Given the description of an element on the screen output the (x, y) to click on. 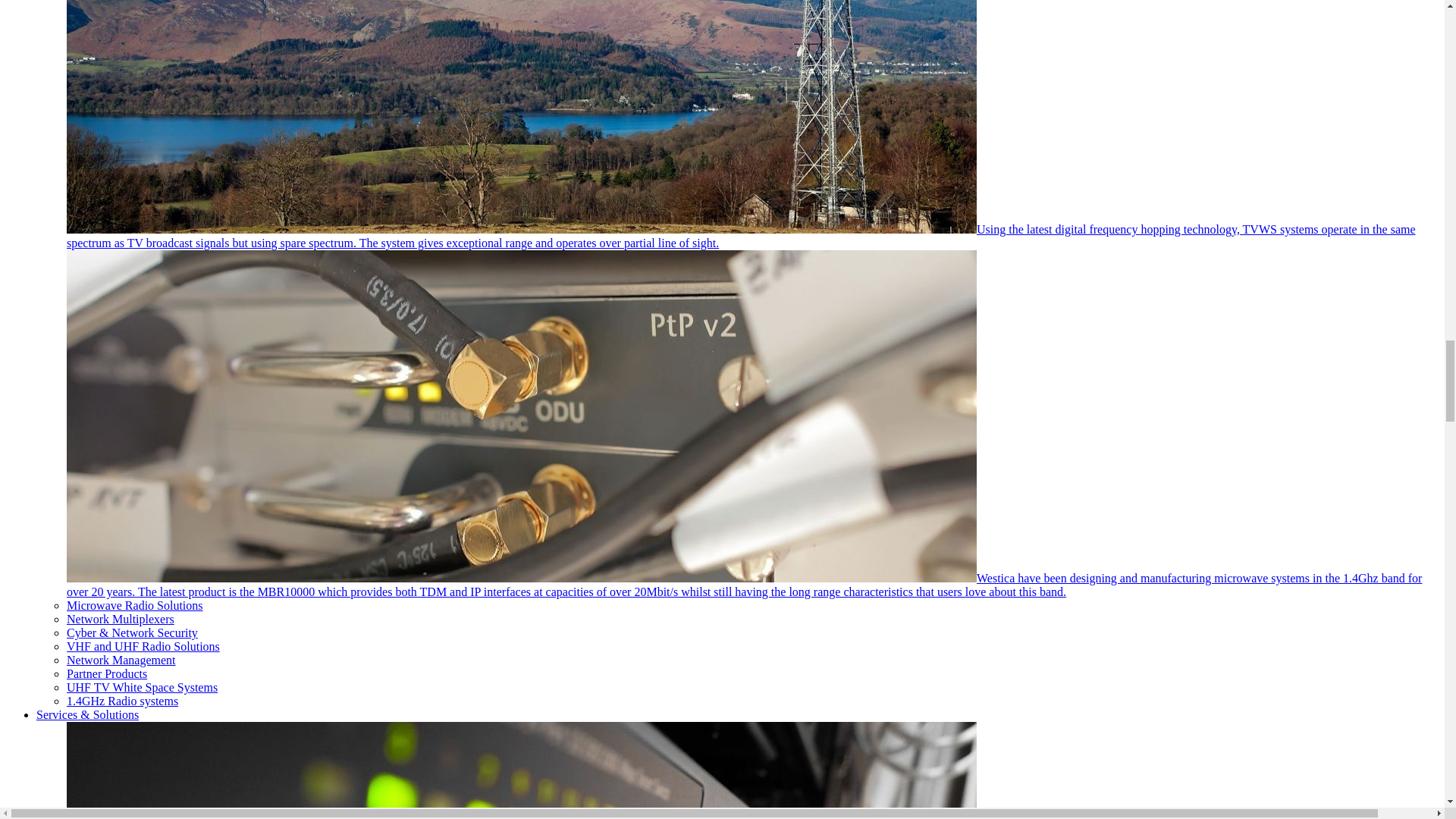
Microwave Radio Solutions (134, 604)
UHF TV White Space Systems (141, 686)
Network Multiplexers (120, 618)
Partner Products (106, 673)
1.4GHz Radio systems (121, 700)
VHF and UHF Radio Solutions (142, 645)
Network Management (121, 659)
